Given the description of an element on the screen output the (x, y) to click on. 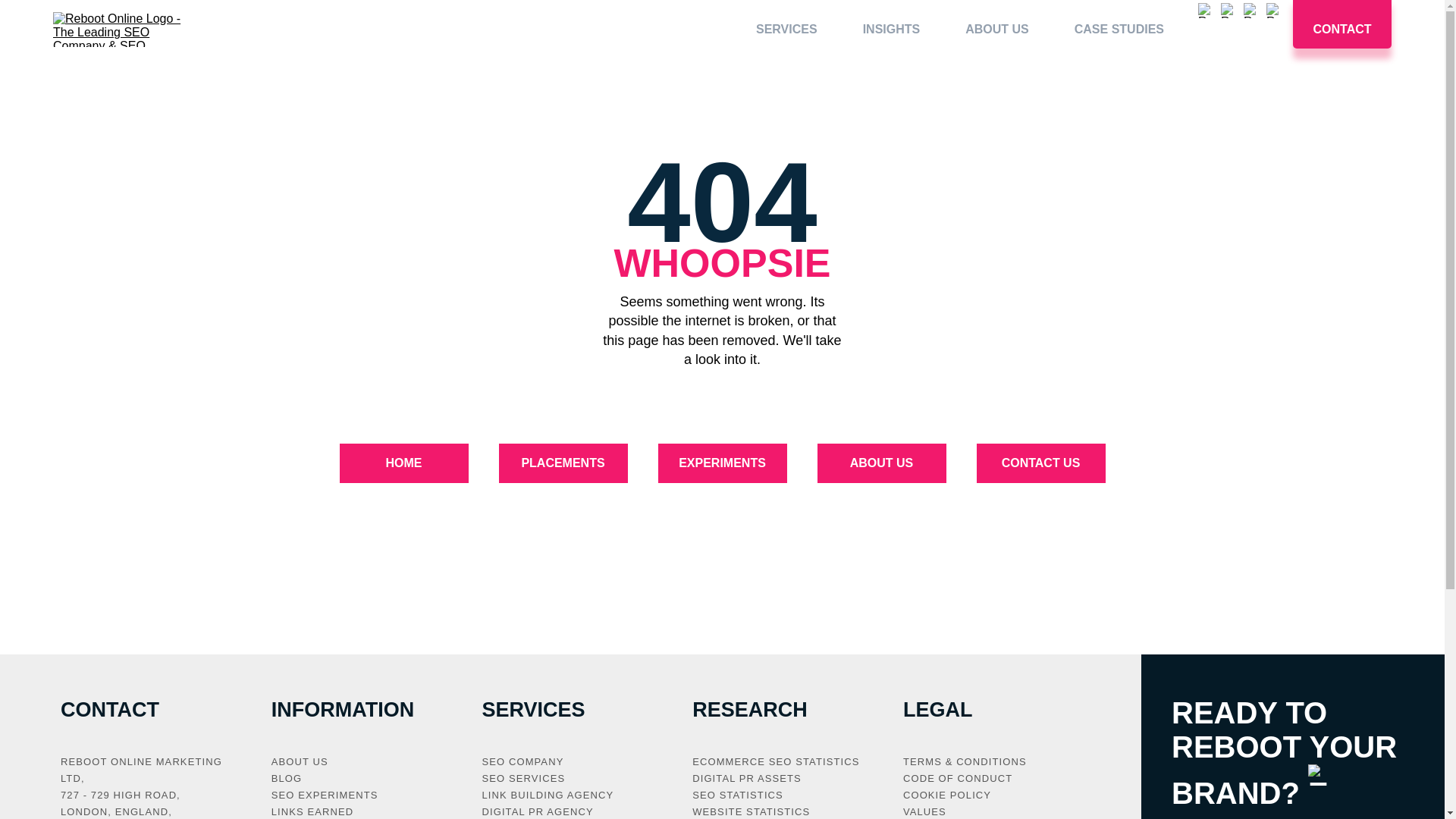
Home (403, 463)
Contact Us (1040, 463)
Rebootonline Facebook (1205, 29)
Rebootonline Linkedin (1273, 29)
About Us (881, 463)
Rebootonline Twitter (1228, 29)
Placements (563, 463)
CONTACT (1341, 29)
Experiments (722, 463)
Rebootonline Instagram (1251, 29)
